Given the description of an element on the screen output the (x, y) to click on. 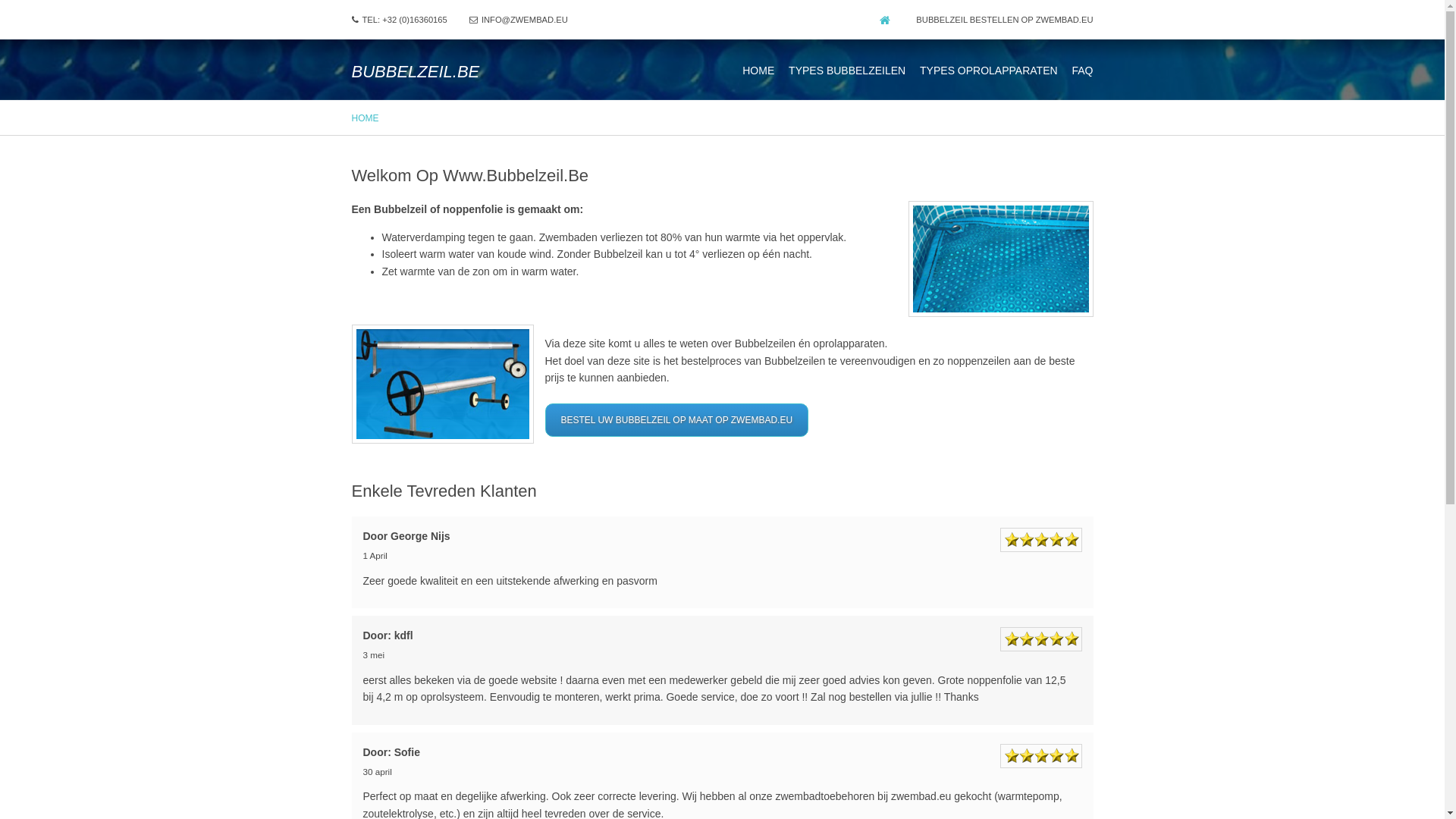
HOME Element type: text (365, 117)
FAQ Element type: text (1081, 70)
BESTEL UW BUBBELZEIL OP MAAT OP ZWEMBAD.EU Element type: text (676, 419)
TYPES BUBBELZEILEN Element type: text (846, 70)
BUBBELZEIL BESTELLEN OP ZWEMBAD.EU Element type: text (1004, 19)
BUBBELZEIL.BE Element type: text (415, 71)
HOME Element type: text (758, 70)
TYPES OPROLAPPARATEN Element type: text (988, 70)
